Given the description of an element on the screen output the (x, y) to click on. 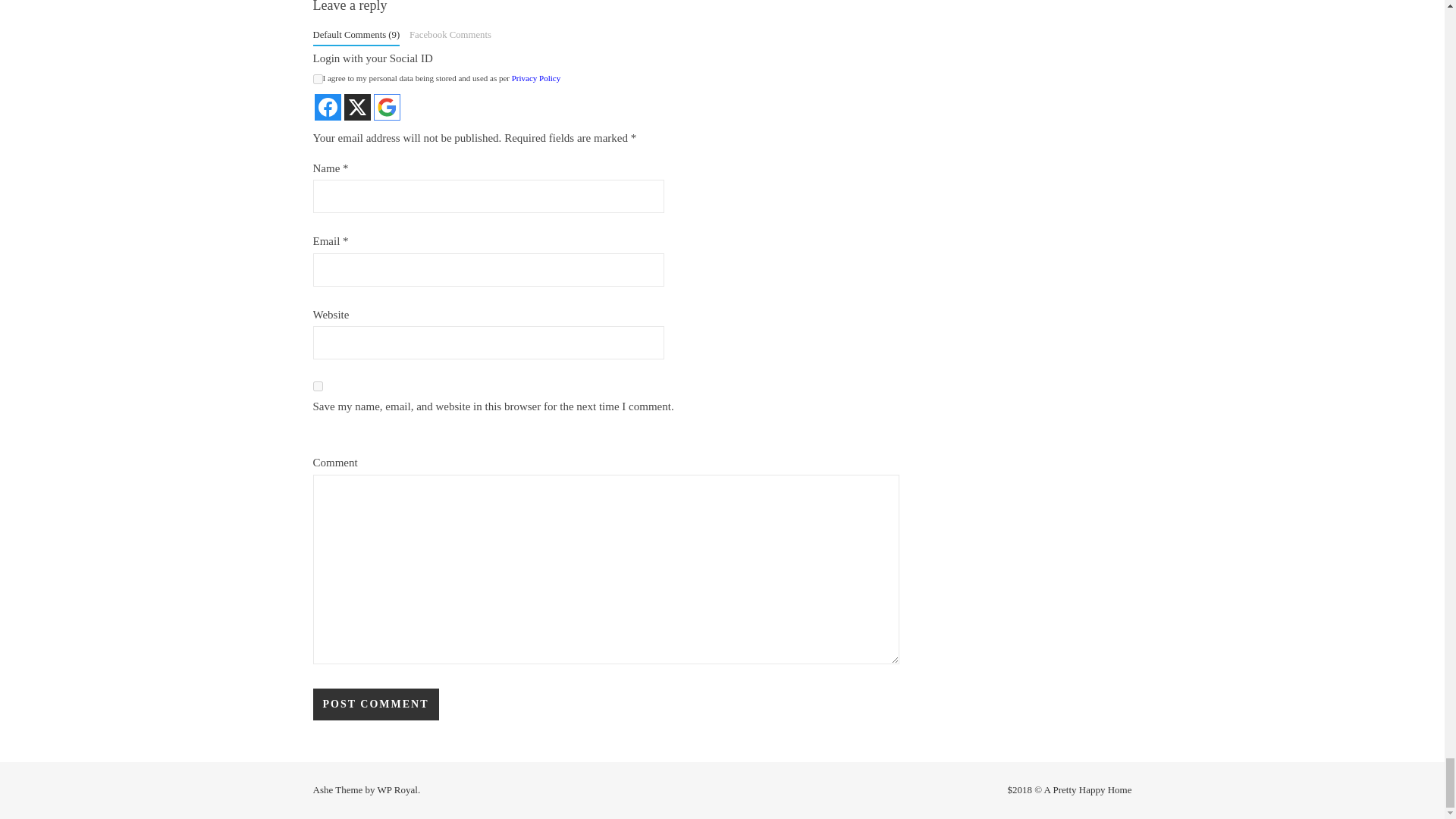
yes (317, 386)
1 (317, 79)
Post Comment (375, 704)
